Given the description of an element on the screen output the (x, y) to click on. 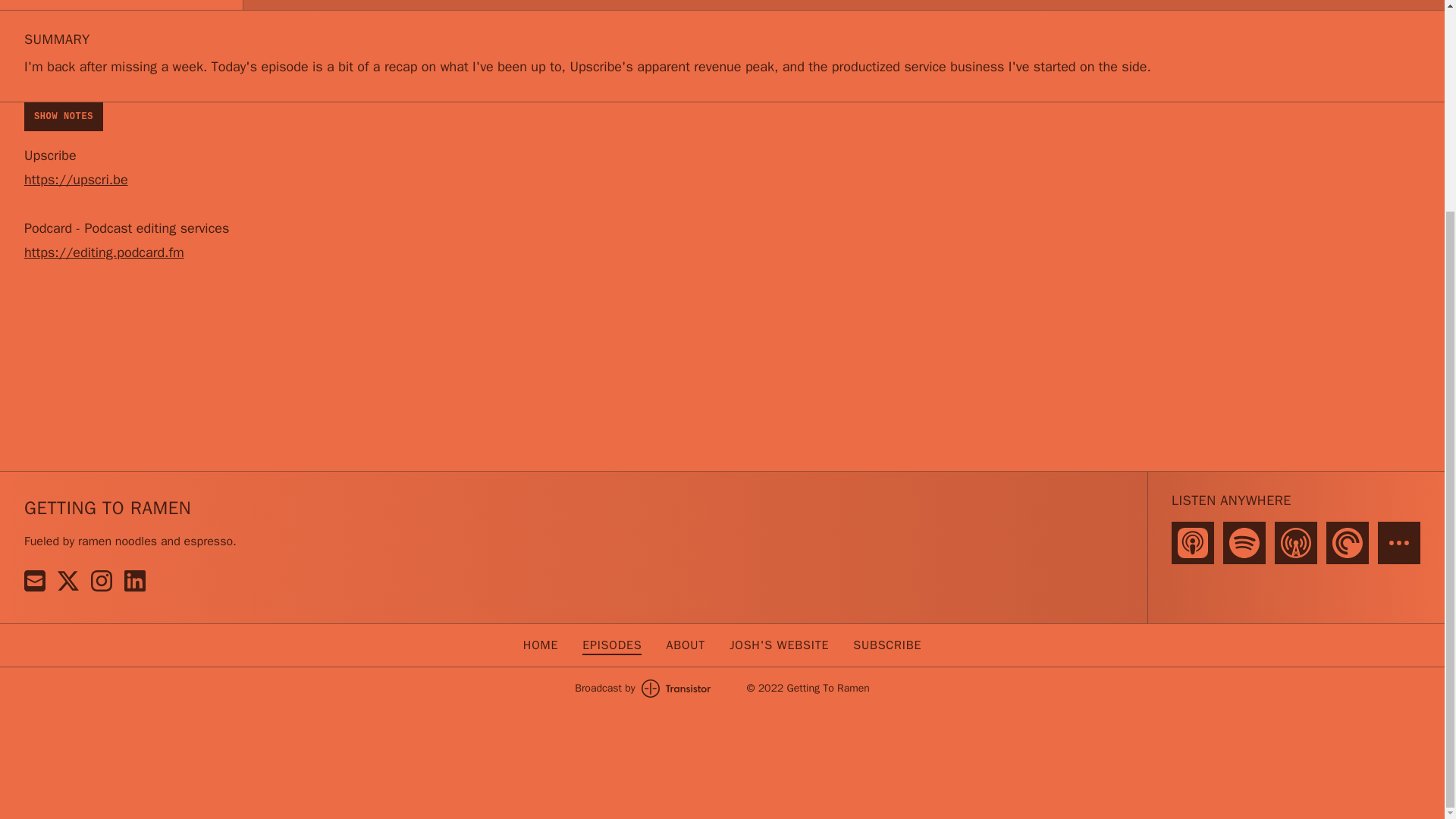
View Getting To Ramen on Instagram (101, 580)
GETTING TO RAMEN (107, 508)
View Getting To Ramen on Twitter (68, 580)
EPISODES (612, 645)
SUBSCRIBE (887, 645)
View Getting To Ramen on LinkedIn (134, 580)
Broadcast by (642, 688)
HOME (539, 645)
ABOUT (684, 645)
JOSH'S WEBSITE (778, 645)
